Given the description of an element on the screen output the (x, y) to click on. 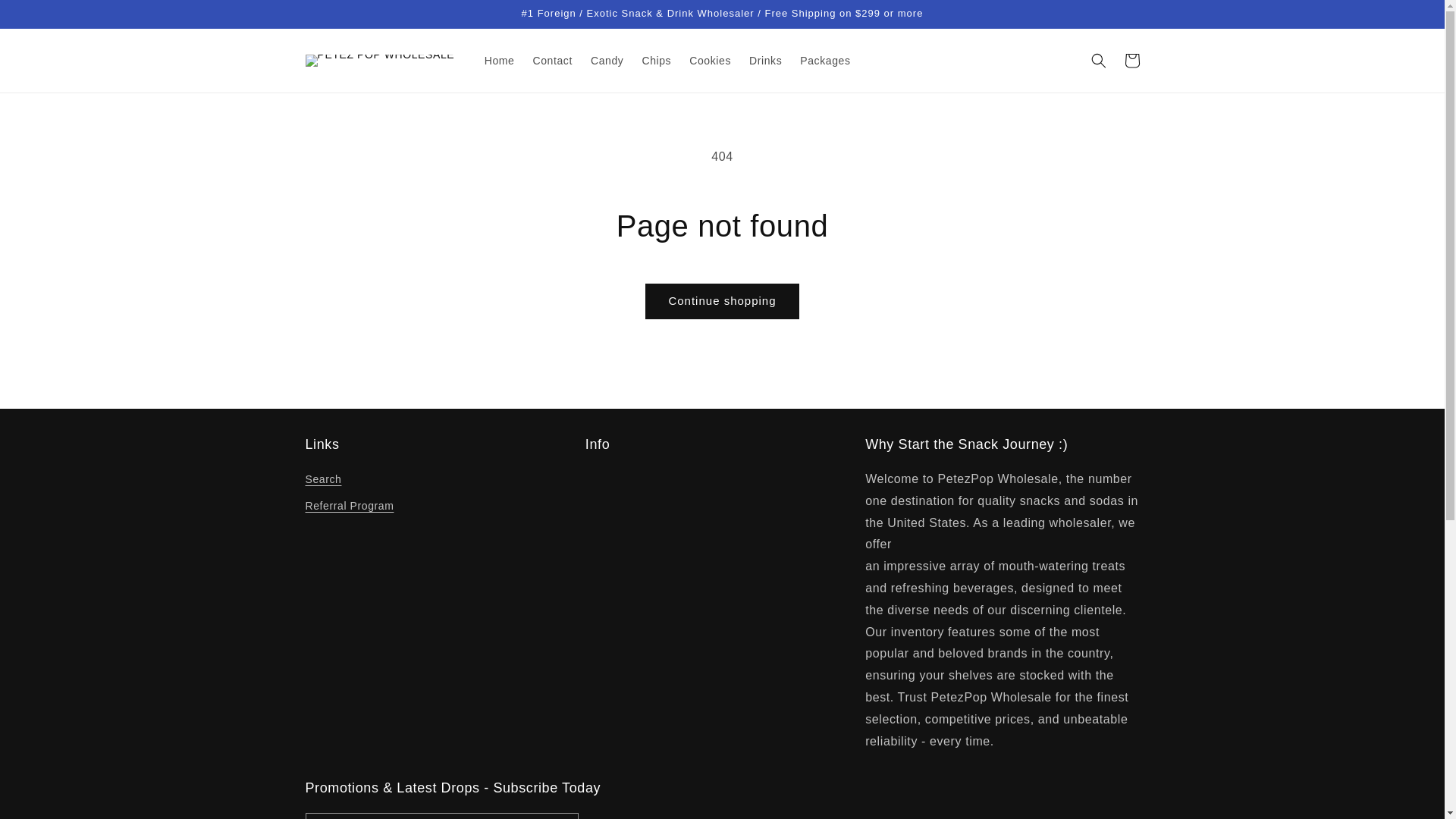
Candy (605, 60)
Cookies (709, 60)
Chips (655, 60)
Skip to content (45, 17)
Continue shopping (721, 301)
Referral Program (348, 506)
Search (322, 481)
Packages (824, 60)
Cart (1131, 60)
Contact (551, 60)
Home (500, 60)
Drinks (764, 60)
